Given the description of an element on the screen output the (x, y) to click on. 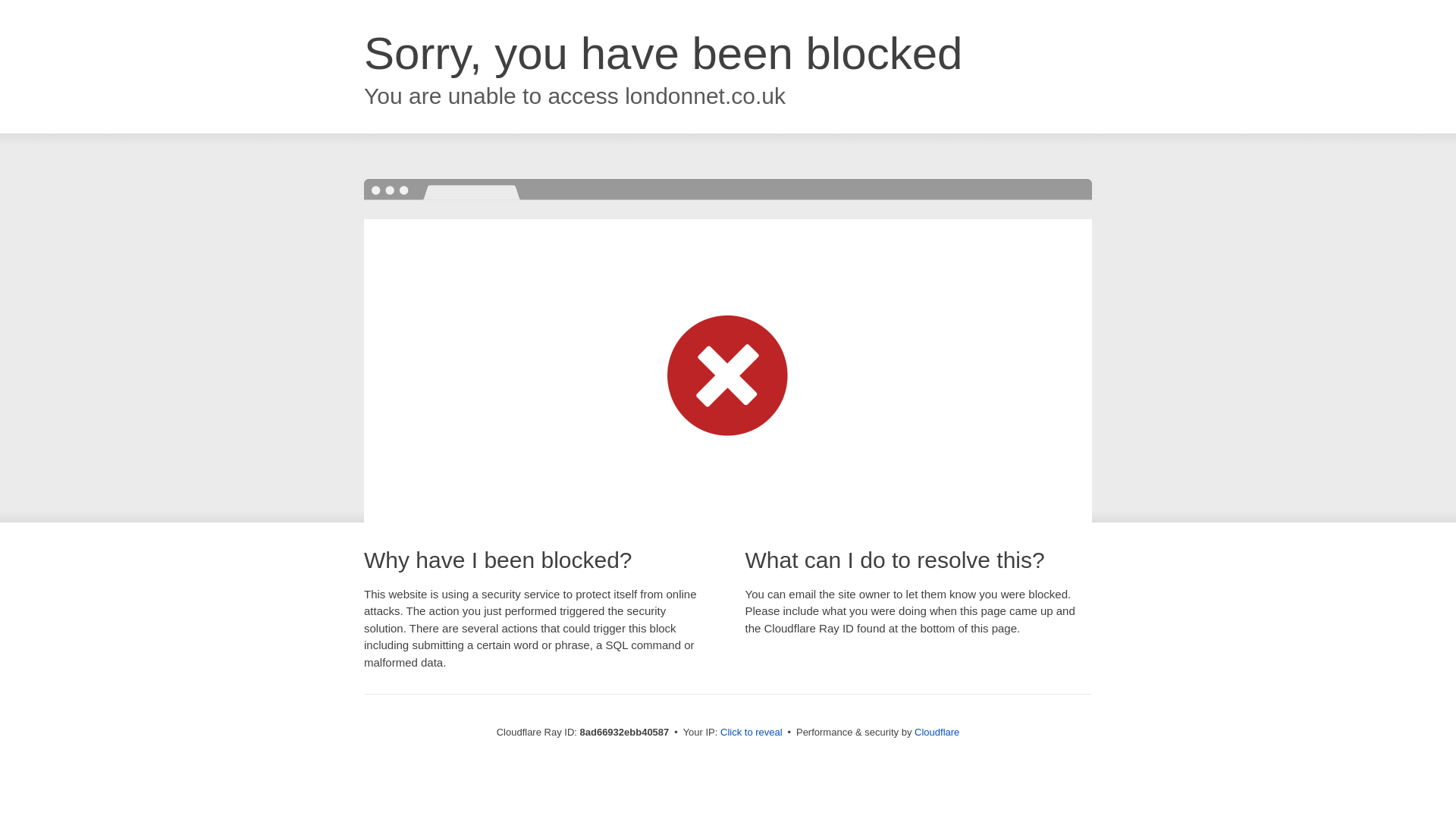
Click to reveal (751, 732)
Cloudflare (936, 731)
